Given the description of an element on the screen output the (x, y) to click on. 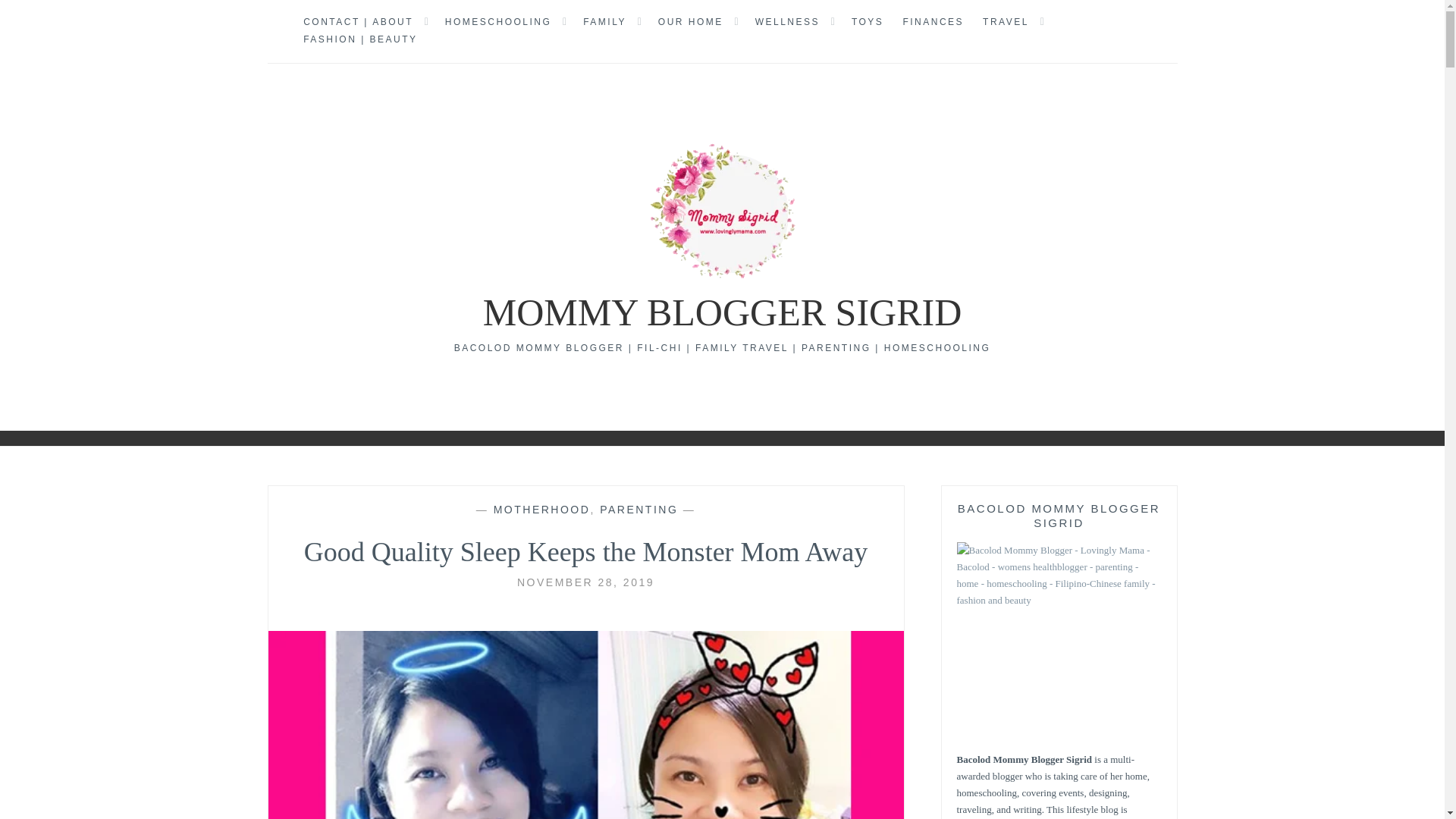
FAMILY (604, 22)
Homeschooling Tips for the Filipino Family (498, 22)
MOTHERHOOD (542, 509)
MOMMY BLOGGER SIGRID (722, 312)
OUR HOME (690, 22)
WELLNESS (787, 22)
TRAVEL (1005, 22)
TOYS (867, 22)
Stories About the Family (604, 22)
HOMESCHOOLING (498, 22)
